Given the description of an element on the screen output the (x, y) to click on. 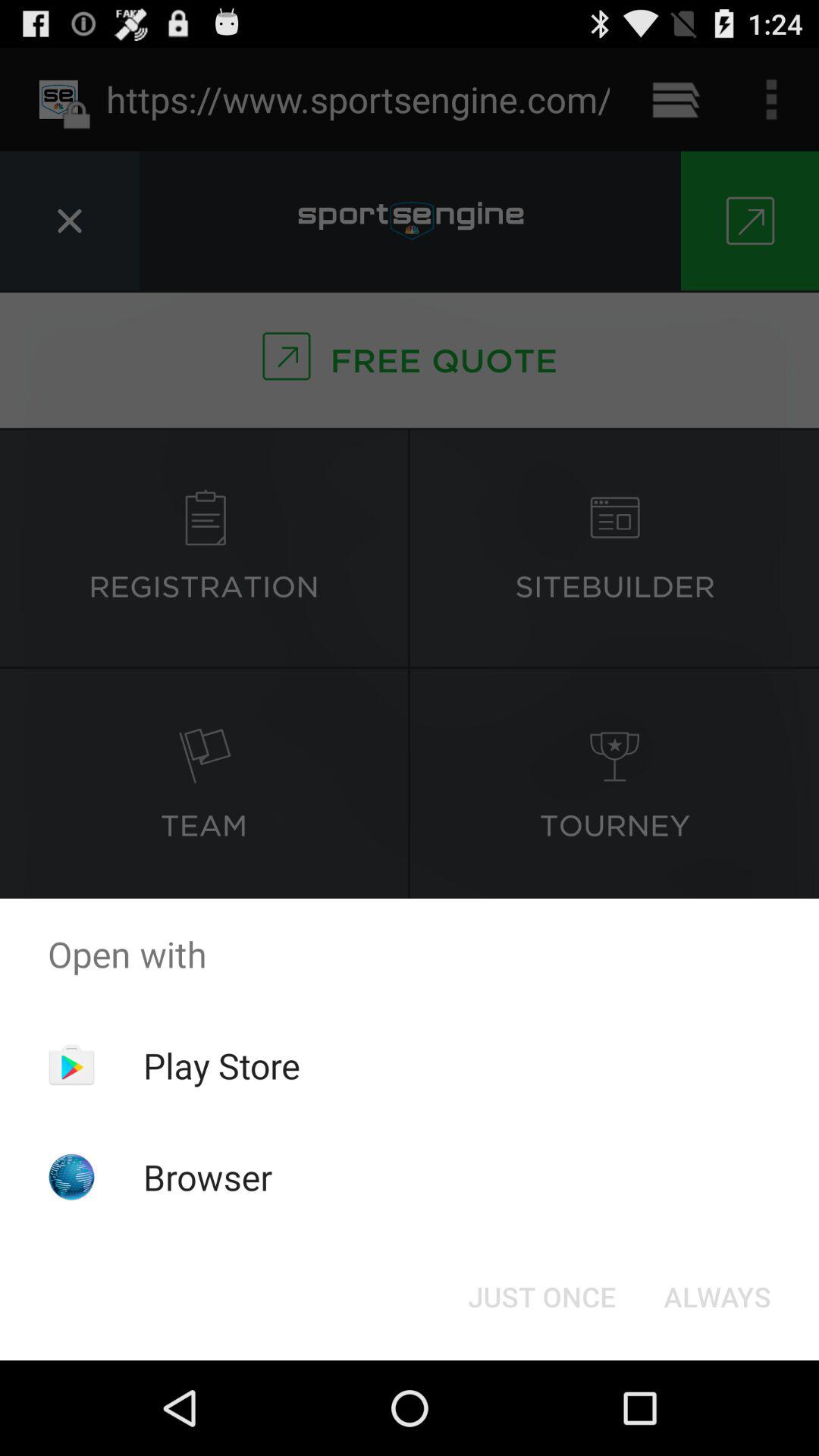
select app below open with app (221, 1065)
